Given the description of an element on the screen output the (x, y) to click on. 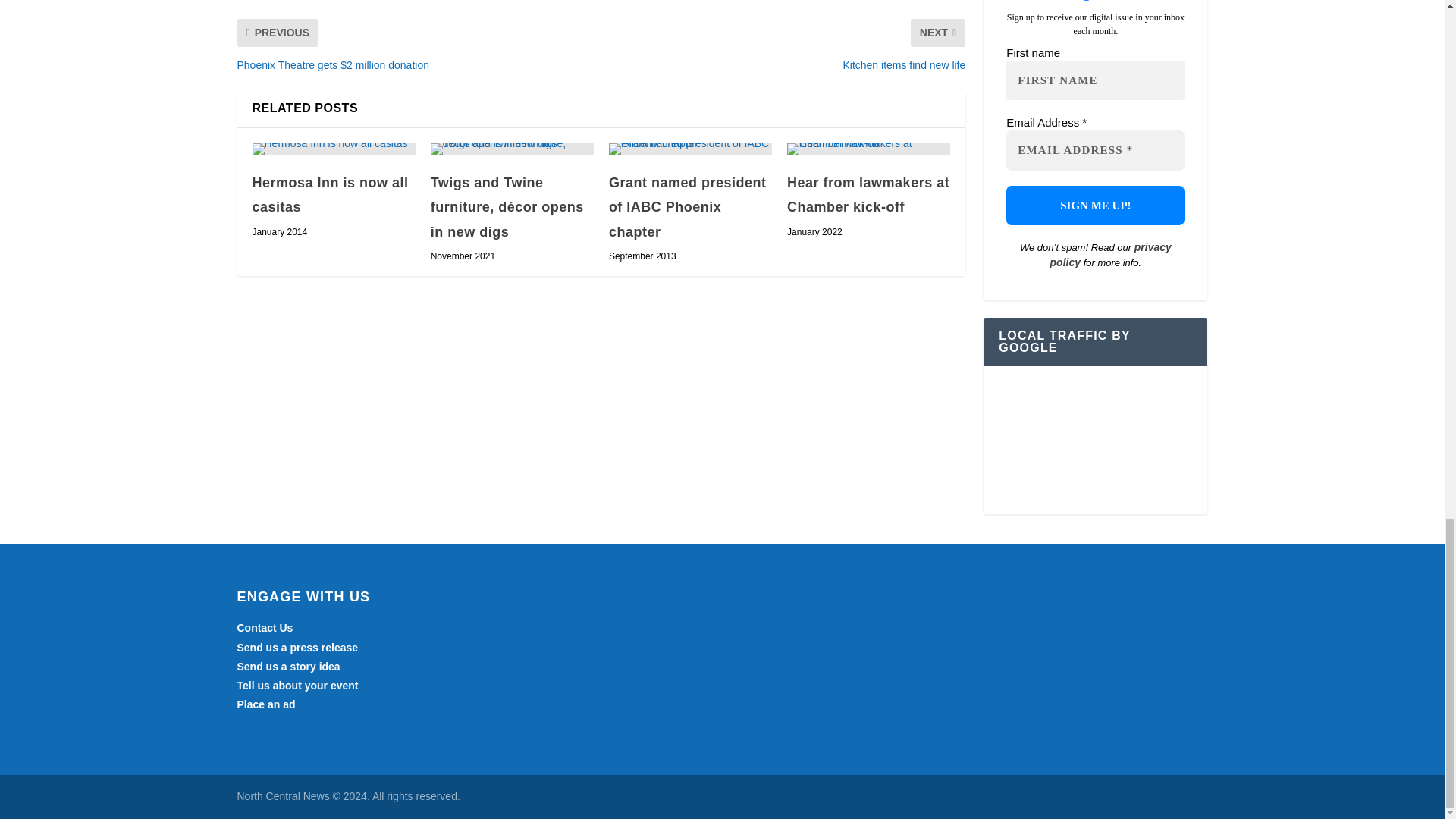
Sign me up! (1095, 205)
Grant named president of IABC Phoenix chapter (689, 149)
Hermosa Inn is now all casitas (329, 194)
Hermosa Inn is now all casitas (332, 149)
Hear from lawmakers at Chamber kick-off (868, 149)
